Given the description of an element on the screen output the (x, y) to click on. 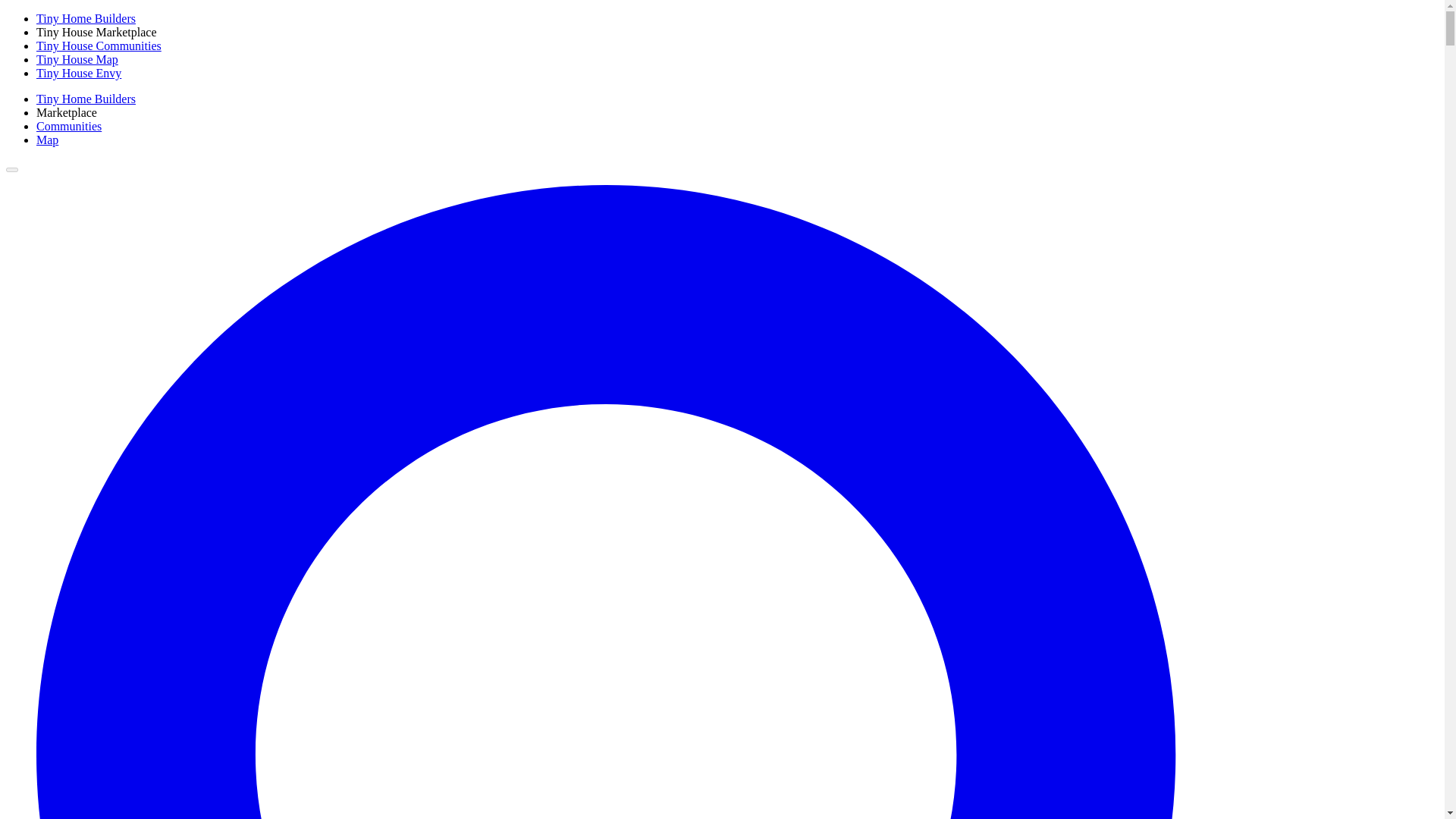
Communities (68, 125)
Tiny Home Builders (85, 98)
Tiny House Communities (98, 45)
Map (47, 139)
Tiny House Envy (78, 72)
Tiny Home Builders (85, 18)
Tiny House Map (76, 59)
